Given the description of an element on the screen output the (x, y) to click on. 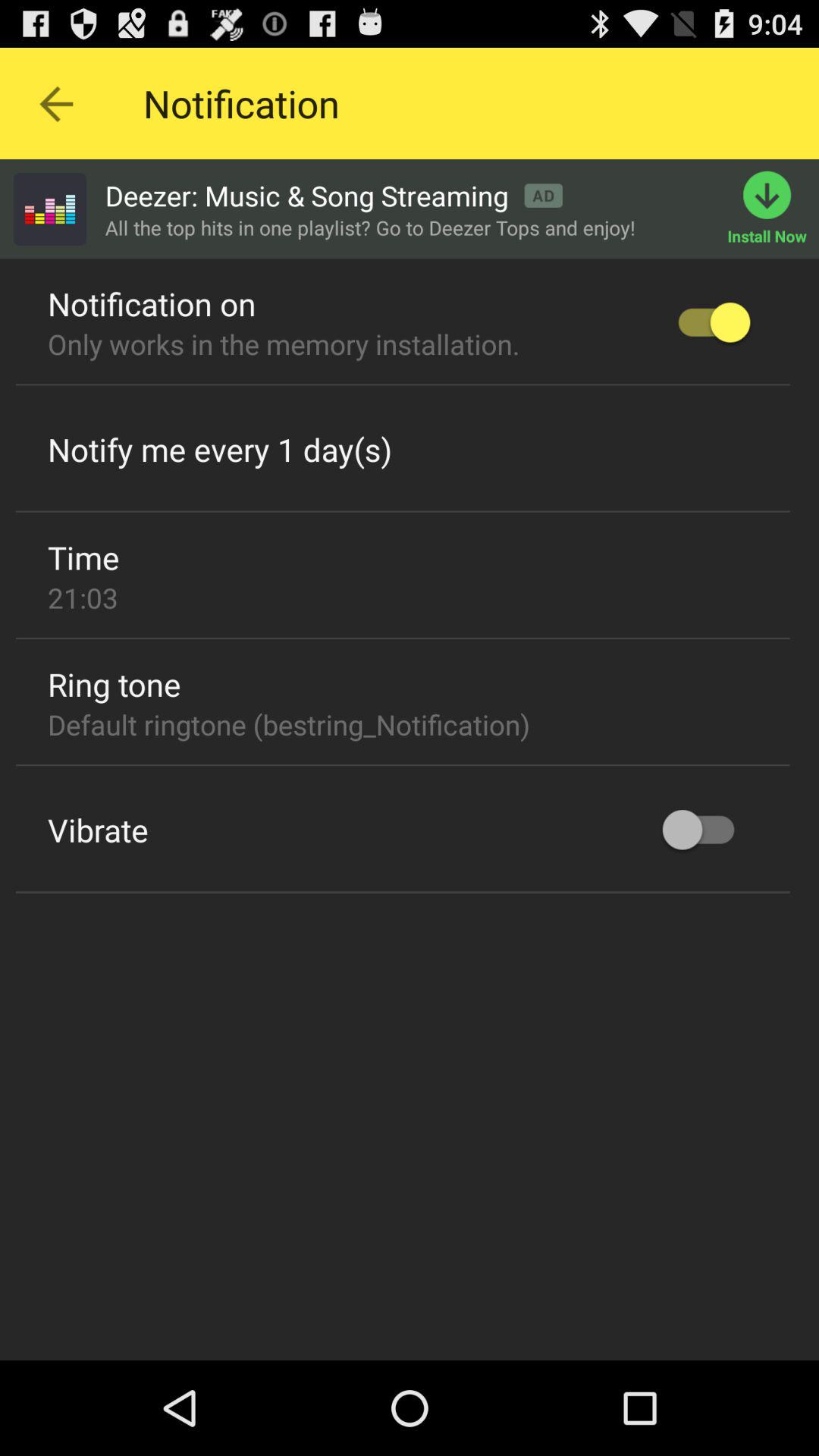
choose icon next to notification app (55, 103)
